Given the description of an element on the screen output the (x, y) to click on. 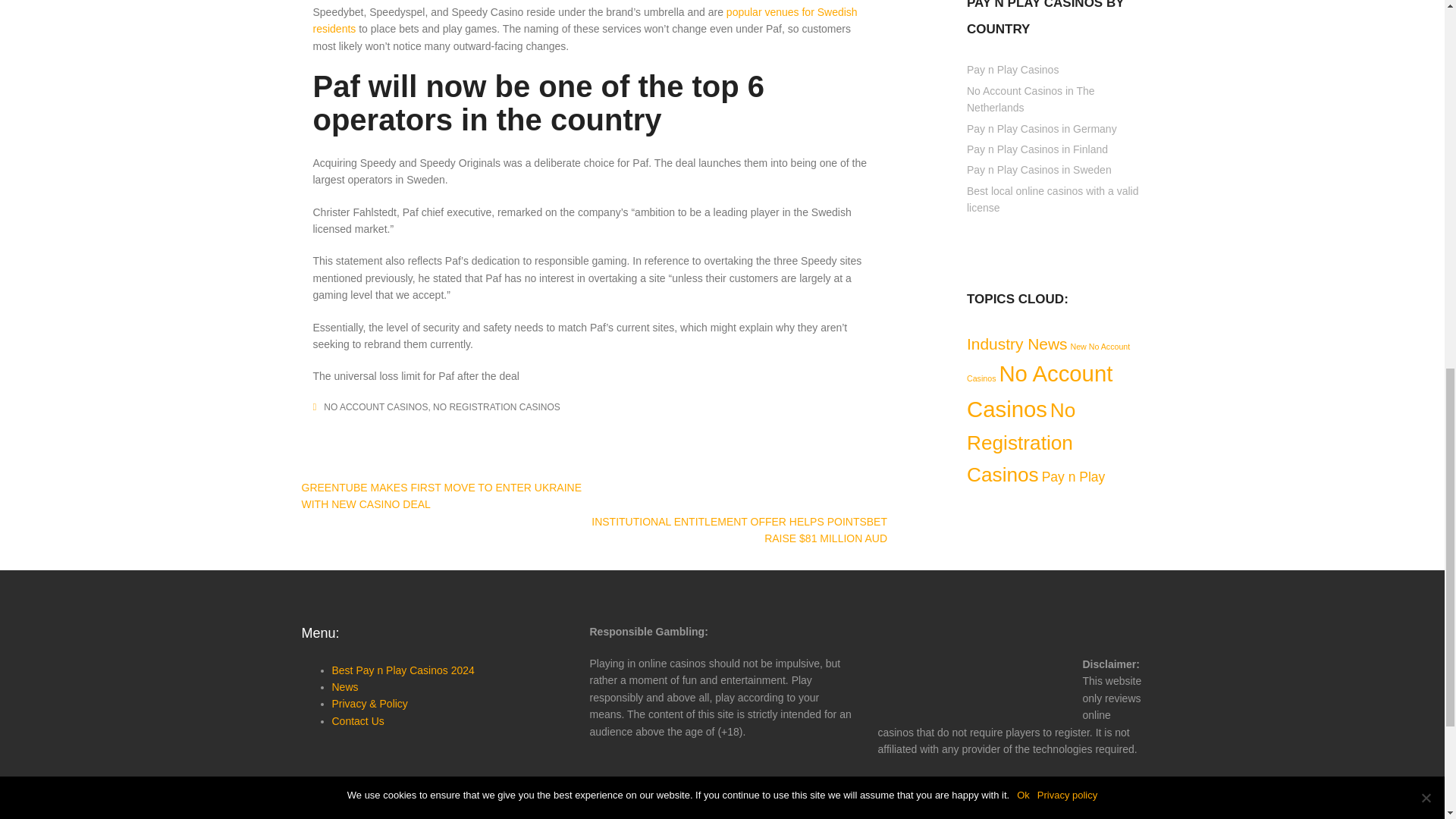
popular venues for Swedish residents (585, 20)
NO ACCOUNT CASINOS (375, 407)
NO REGISTRATION CASINOS (496, 407)
